Given the description of an element on the screen output the (x, y) to click on. 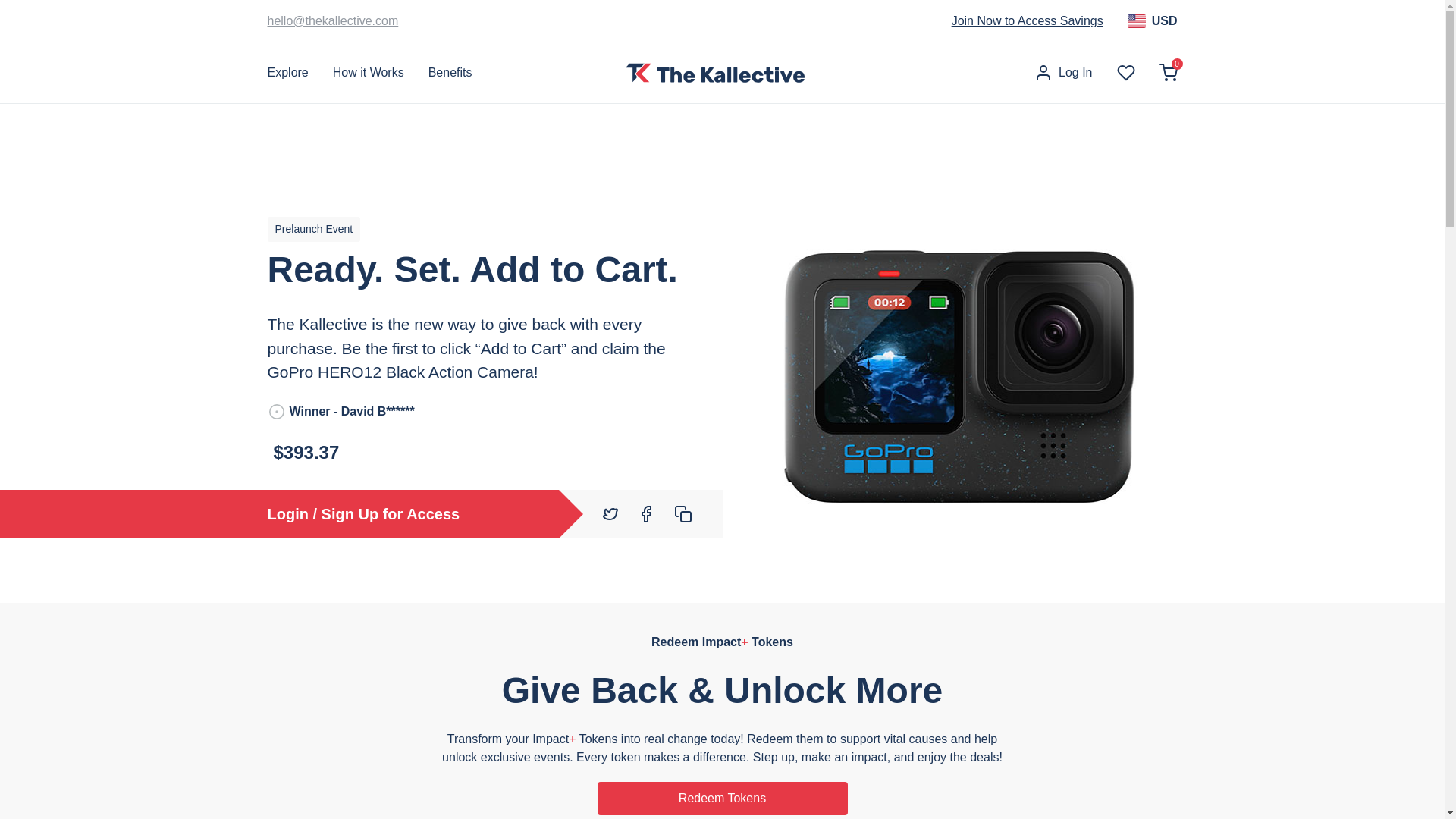
Redeem Tokens (721, 798)
How it Works (368, 72)
Join Now to Access Savings (1027, 21)
Benefits (449, 72)
Explore (286, 72)
